Given the description of an element on the screen output the (x, y) to click on. 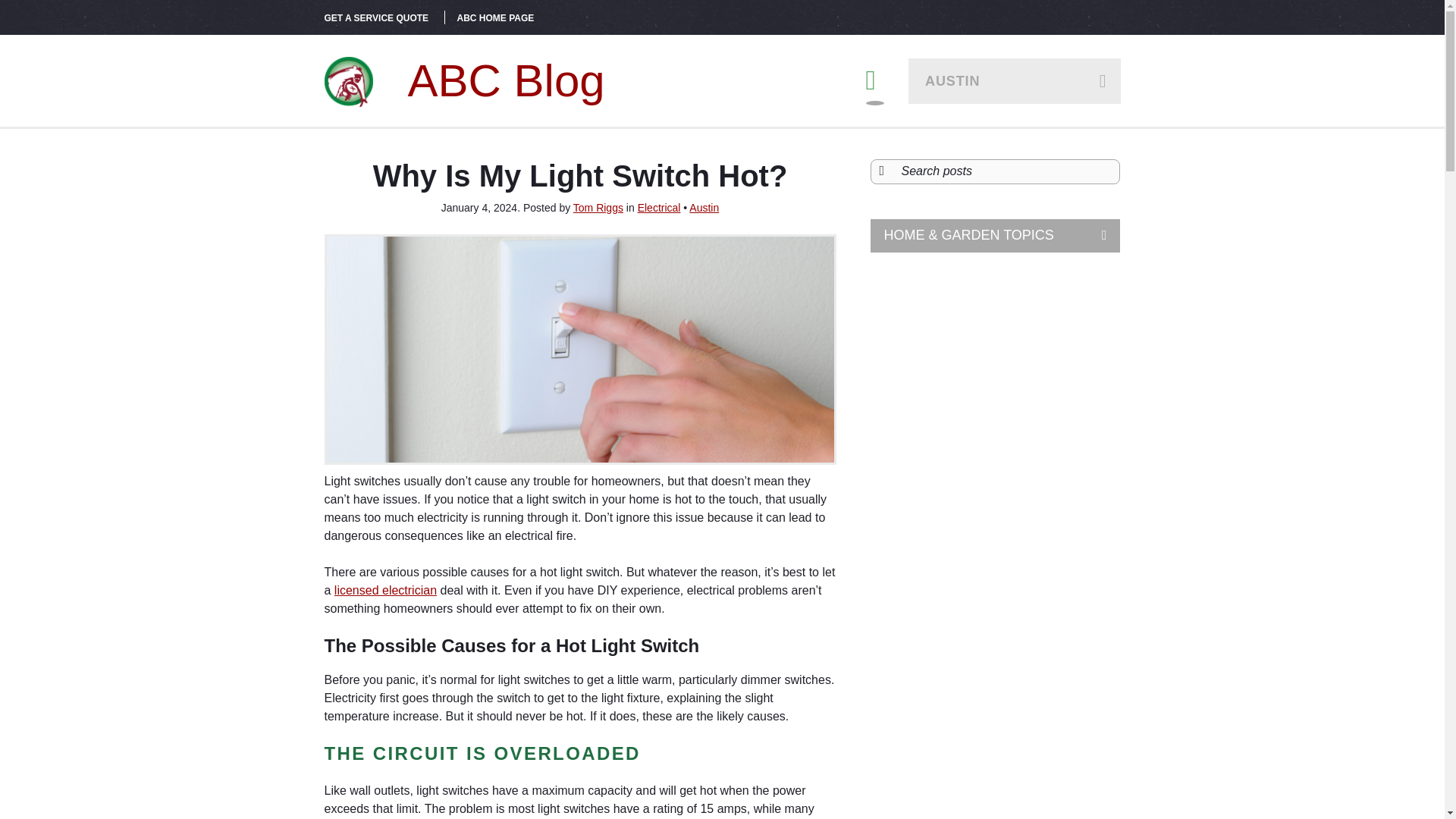
Electrical (659, 207)
GET A SERVICE QUOTE (376, 18)
ABC HOME PAGE (495, 18)
Tom Riggs (598, 207)
ABC Blog (464, 80)
AUSTIN (1014, 81)
Austin (703, 207)
licensed electrician (385, 590)
